Given the description of an element on the screen output the (x, y) to click on. 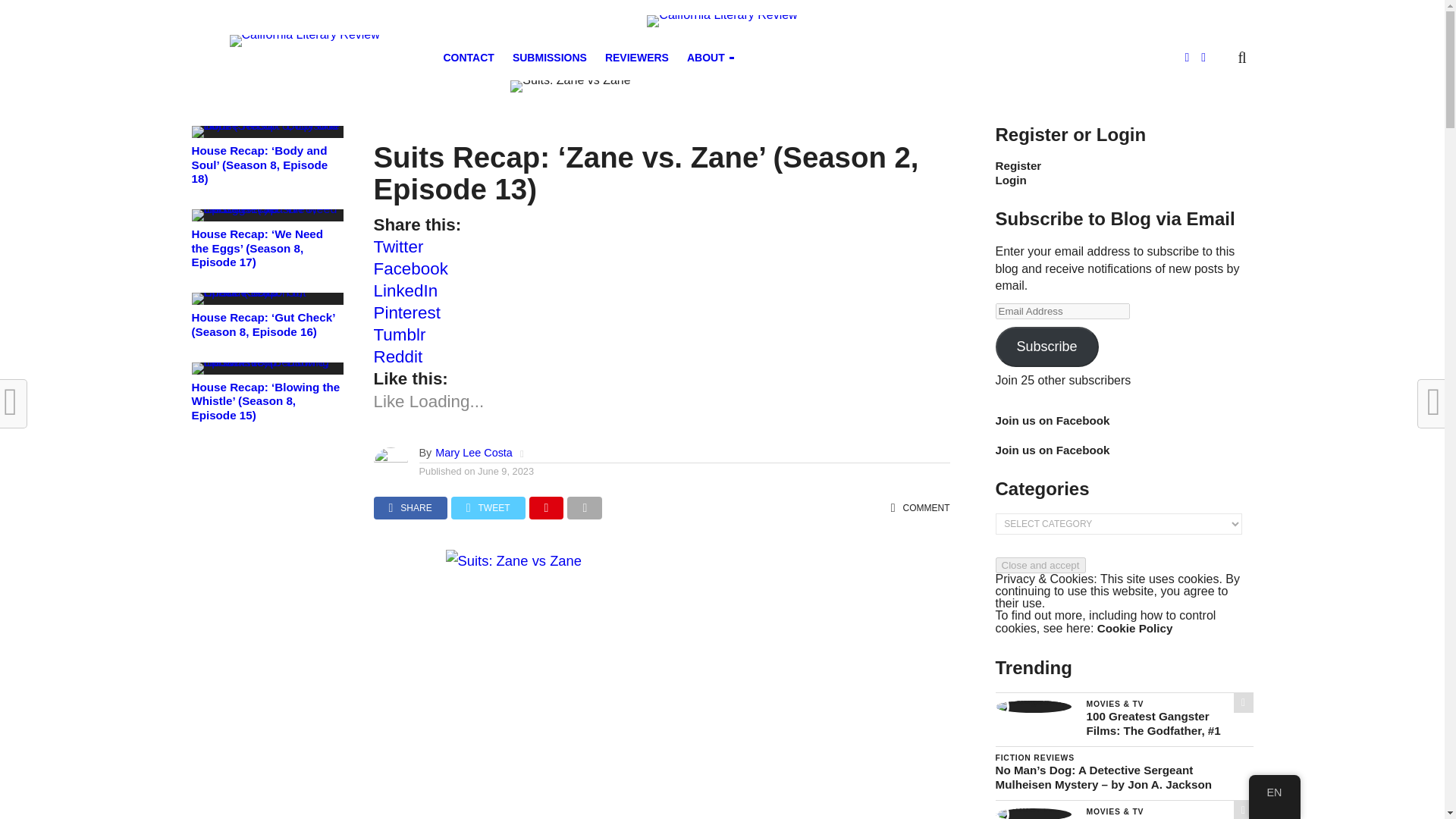
Twitter (397, 246)
Pinterest (405, 312)
Facebook (409, 268)
CONTACT (467, 57)
REVIEWERS (636, 57)
ABOUT (708, 57)
Close and accept (1039, 565)
LinkedIn (405, 290)
SUBMISSIONS (549, 57)
